Given the description of an element on the screen output the (x, y) to click on. 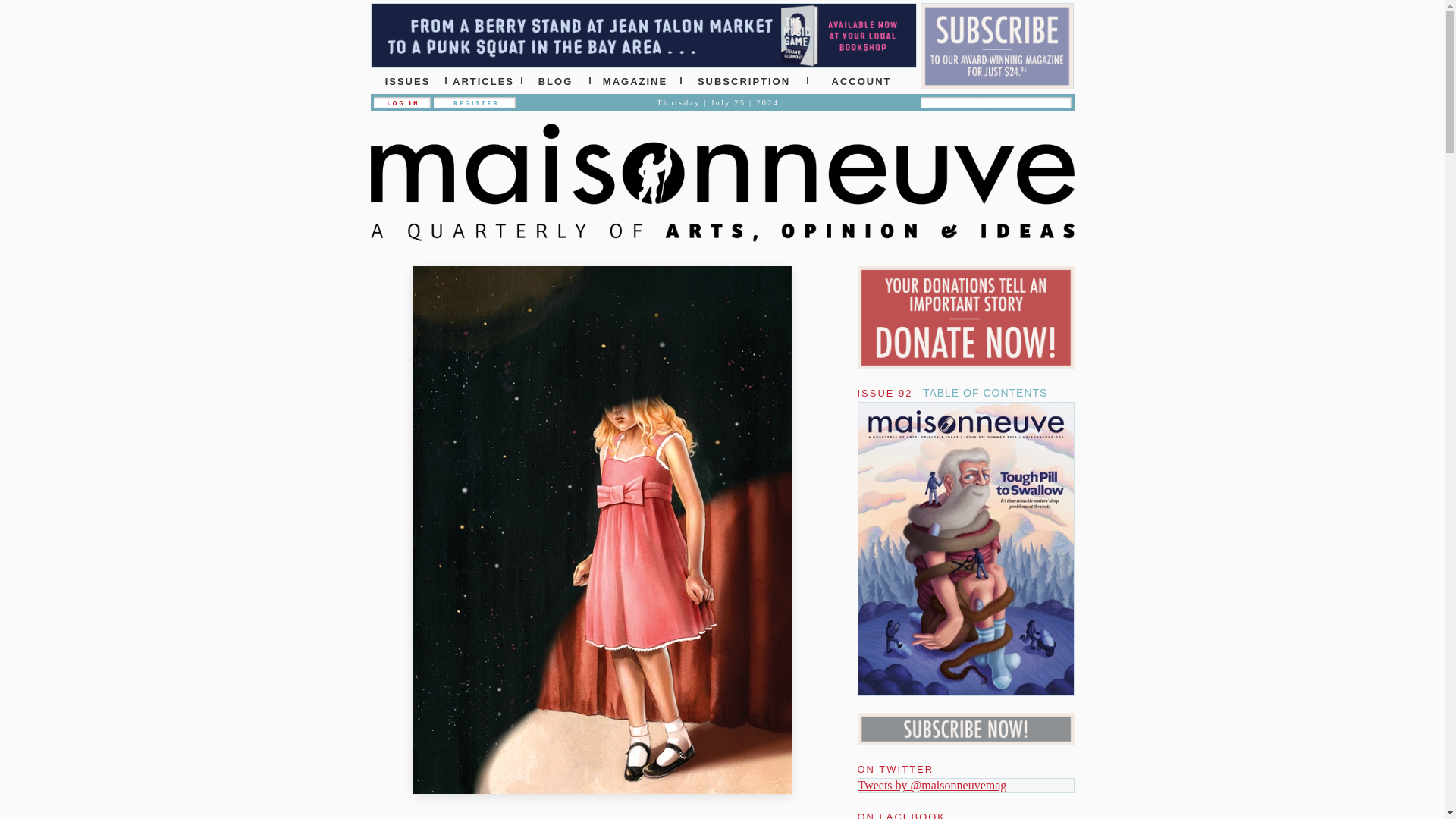
ARTICLES (483, 80)
SUBSCRIPTION (744, 80)
ISSUES (407, 80)
ACCOUNT (861, 80)
BLOG (555, 80)
LOG IN (400, 102)
REGISTER (474, 102)
MAGAZINE (635, 80)
